Given the description of an element on the screen output the (x, y) to click on. 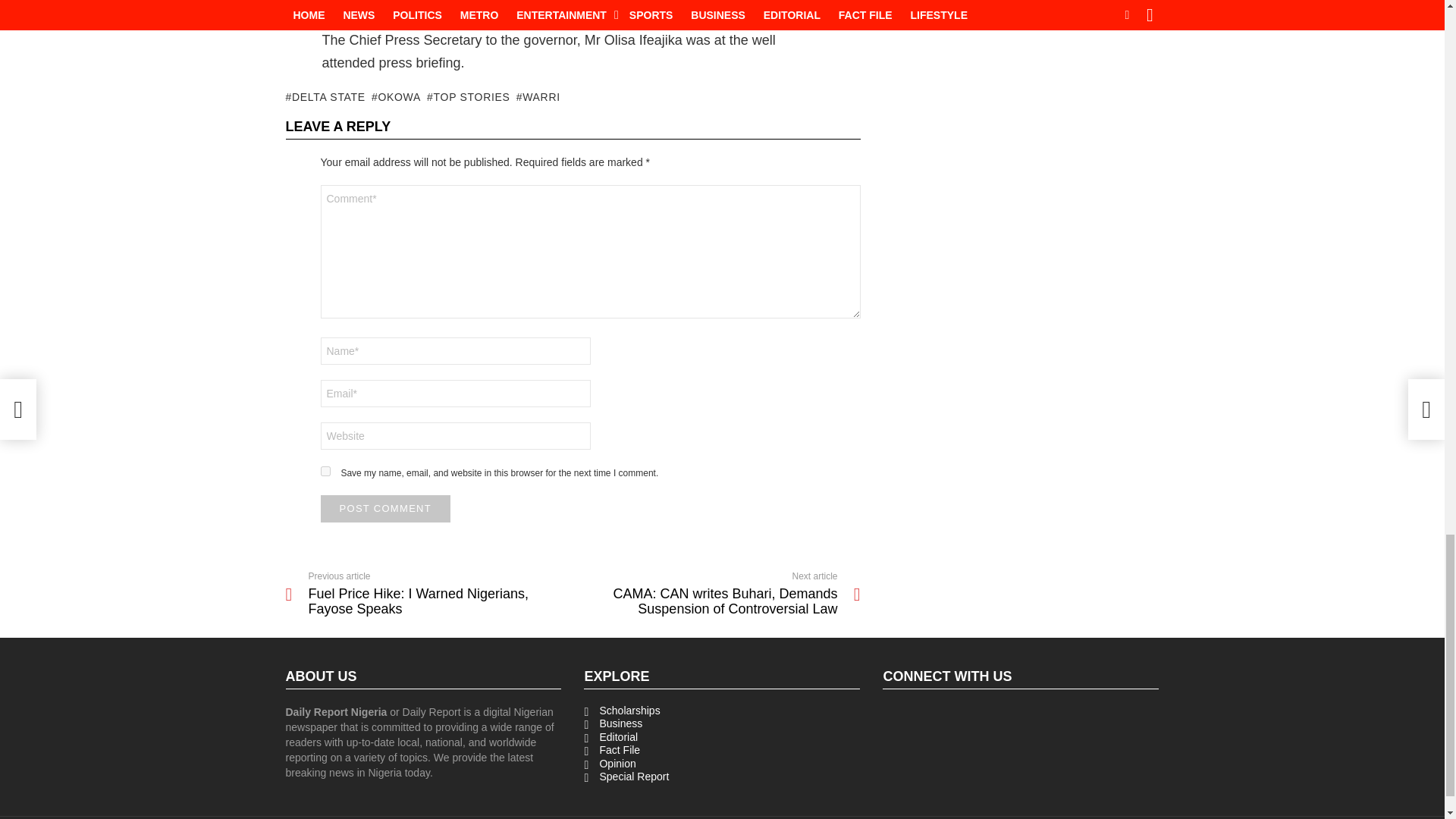
Post Comment (384, 508)
yes (325, 470)
